Given the description of an element on the screen output the (x, y) to click on. 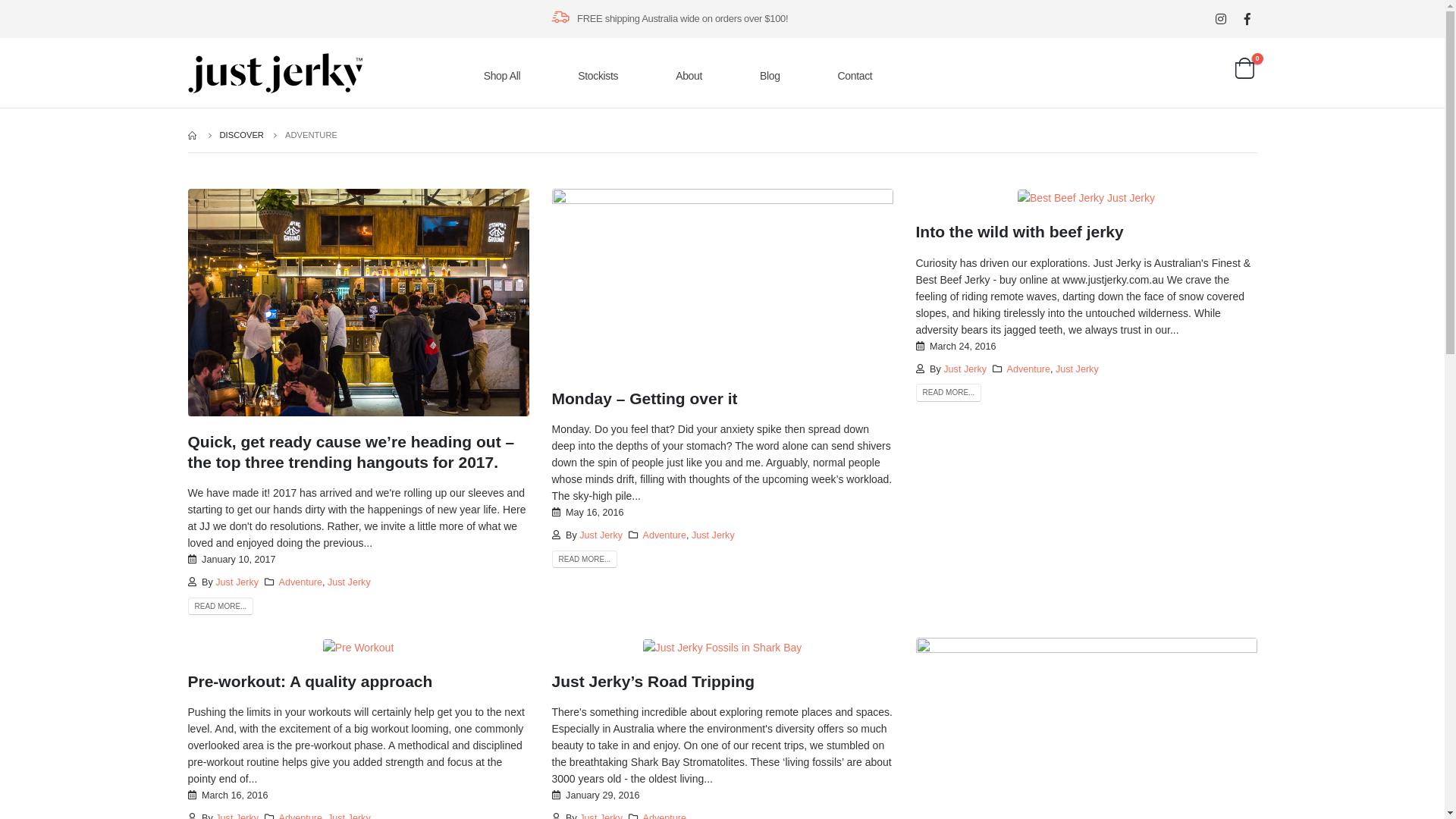
Pre-workout: A quality approach Element type: text (310, 681)
Just Jerky Element type: text (348, 582)
READ MORE... Element type: text (221, 606)
Just Jerky Element type: text (964, 369)
DISCOVER Element type: text (241, 134)
Stockists Element type: text (602, 75)
Just Jerky Element type: text (236, 582)
Instagram Element type: hover (1220, 18)
Just Jerky - Just Jerky Element type: hover (275, 73)
Adventure Element type: text (1028, 369)
Adventure Element type: text (300, 582)
Just Jerky Element type: text (600, 535)
READ MORE... Element type: text (585, 558)
Go to Home Page Element type: hover (193, 134)
Facebook Element type: hover (1246, 18)
Adventure Element type: text (664, 535)
Contact Element type: text (860, 75)
Just Jerky Element type: text (712, 535)
Just Jerky Element type: text (1076, 369)
Blog Element type: text (774, 75)
Shop All Element type: text (507, 75)
READ MORE... Element type: text (949, 392)
Into the wild with beef jerky Element type: text (1019, 231)
About Element type: text (693, 75)
